Given the description of an element on the screen output the (x, y) to click on. 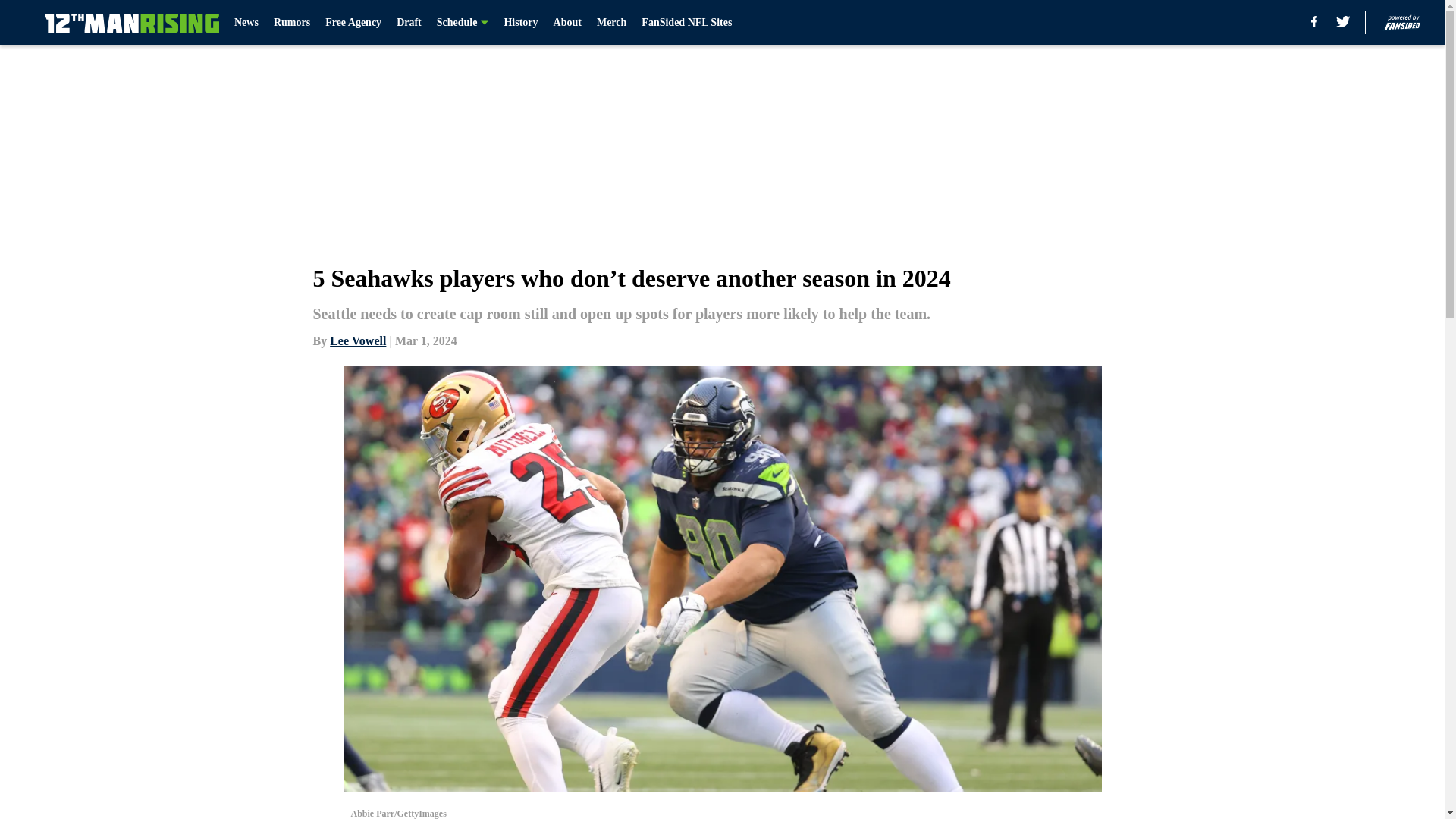
Draft (409, 22)
News (246, 22)
Lee Vowell (357, 340)
Free Agency (352, 22)
FanSided NFL Sites (687, 22)
About (566, 22)
Merch (611, 22)
History (520, 22)
Rumors (291, 22)
